Given the description of an element on the screen output the (x, y) to click on. 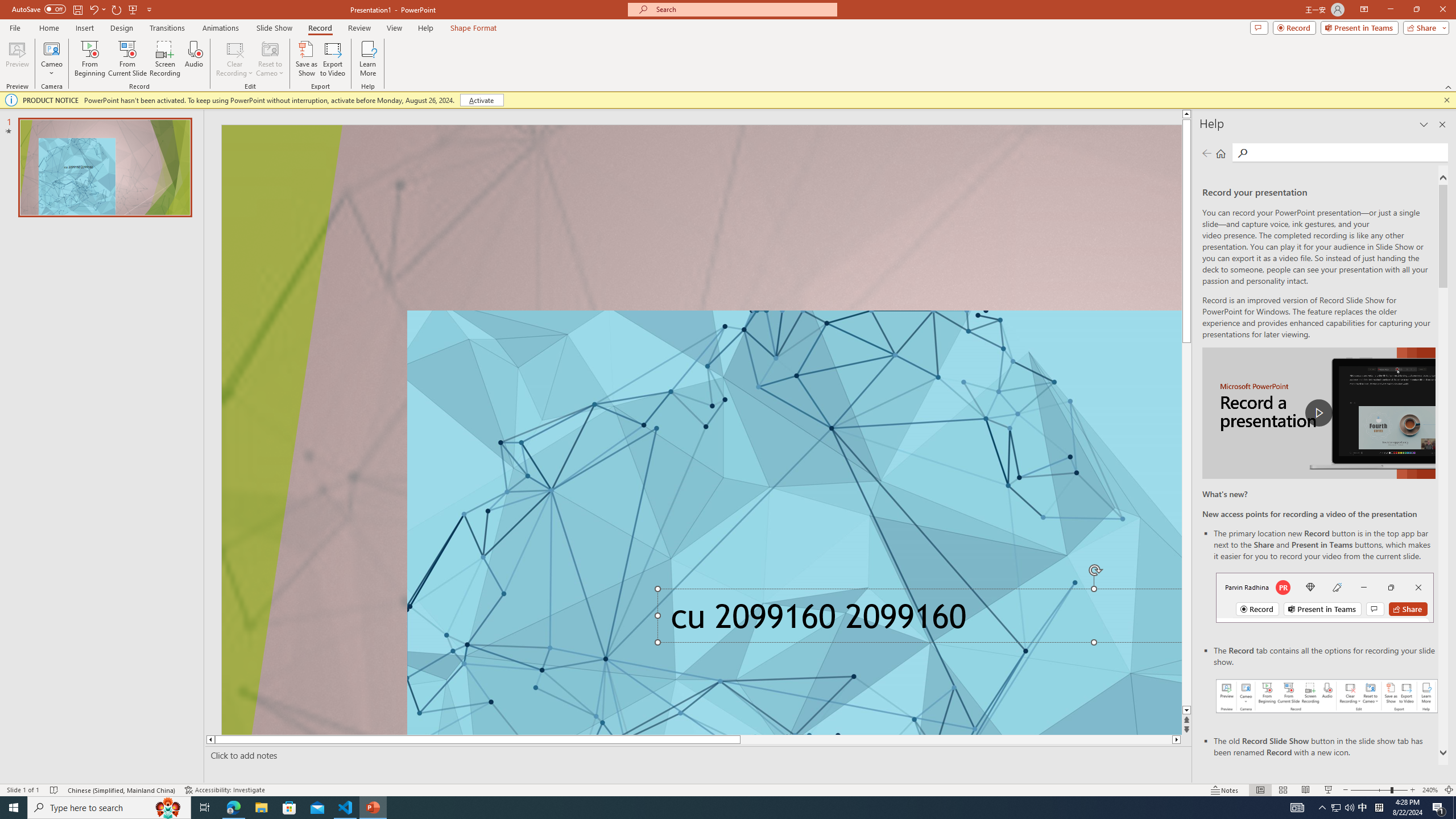
Close (1442, 9)
Slide (104, 167)
Slide Sorter (1282, 790)
Cameo (51, 48)
